Given the description of an element on the screen output the (x, y) to click on. 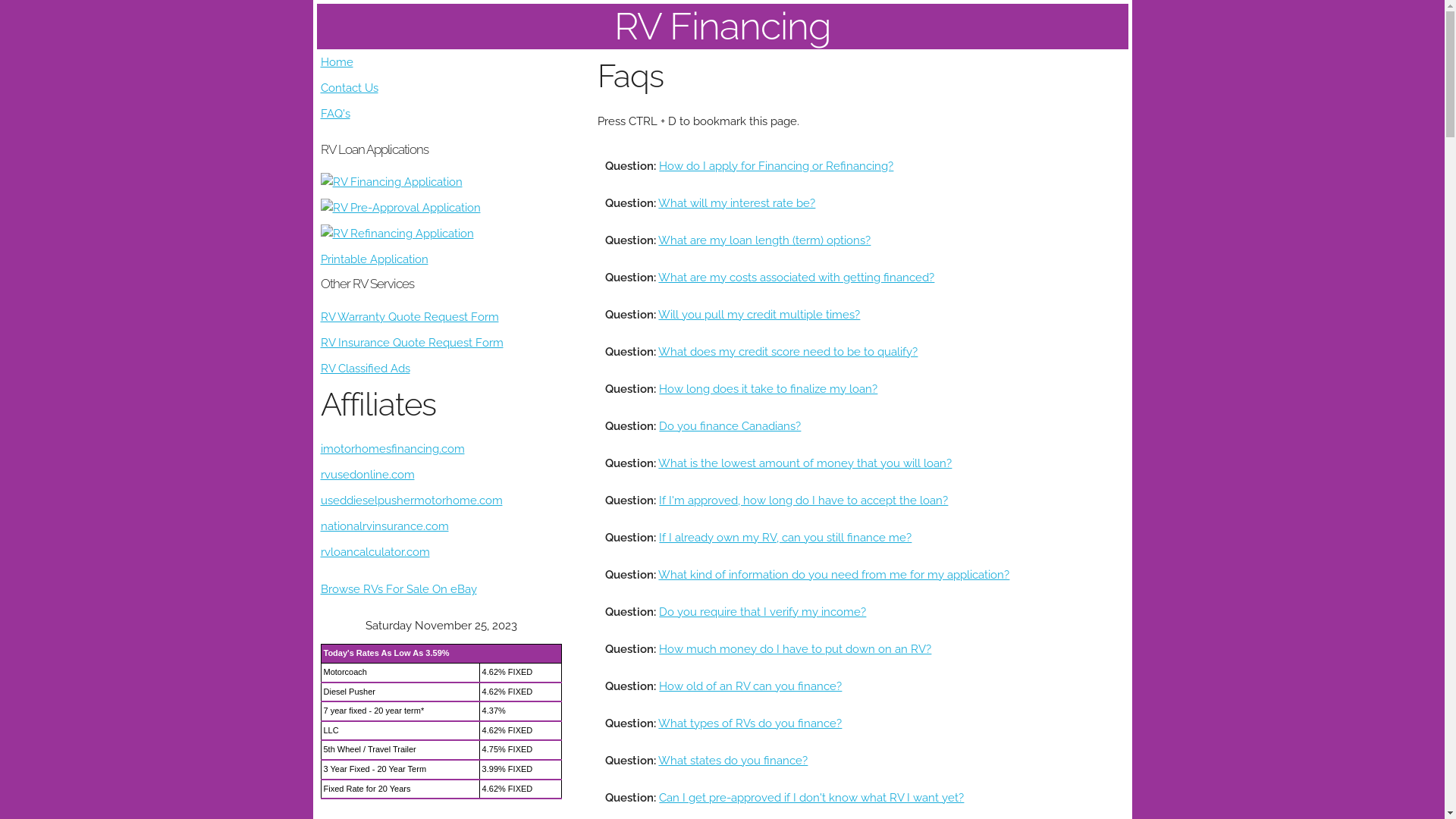
imotorhomesfinancing.com Element type: text (392, 448)
Contact Us Element type: text (348, 87)
How much money do I have to put down on an RV? Element type: text (794, 648)
useddieselpushermotorhome.com Element type: text (411, 500)
How long does it take to finalize my loan? Element type: text (767, 388)
How do I apply for Financing or Refinancing? Element type: text (775, 165)
What does my credit score need to be to qualify? Element type: text (787, 350)
Home Element type: text (336, 62)
What are my costs associated with getting financed? Element type: text (796, 276)
What are my loan length (term) options? Element type: text (764, 240)
Printable Application Element type: text (373, 259)
Do you require that I verify my income? Element type: text (762, 611)
rvusedonline.com Element type: text (367, 474)
What states do you finance? Element type: text (732, 760)
If I'm approved, how long do I have to accept the loan? Element type: text (802, 499)
What types of RVs do you finance? Element type: text (749, 722)
Will you pull my credit multiple times? Element type: text (758, 314)
RV Classified Ads Element type: text (364, 368)
rvloancalculator.com Element type: text (374, 551)
Can I get pre-approved if I don't know what RV I want yet? Element type: text (810, 796)
Browse RVs For Sale On eBay Element type: text (398, 589)
RV Insurance Quote Request Form Element type: text (411, 342)
FAQ's Element type: text (334, 113)
Do you finance Canadians? Element type: text (729, 425)
What will my interest rate be? Element type: text (736, 202)
nationalrvinsurance.com Element type: text (384, 526)
RV Warranty Quote Request Form Element type: text (409, 316)
If I already own my RV, can you still finance me? Element type: text (784, 537)
What is the lowest amount of money that you will loan? Element type: text (804, 463)
How old of an RV can you finance? Element type: text (749, 686)
